Given the description of an element on the screen output the (x, y) to click on. 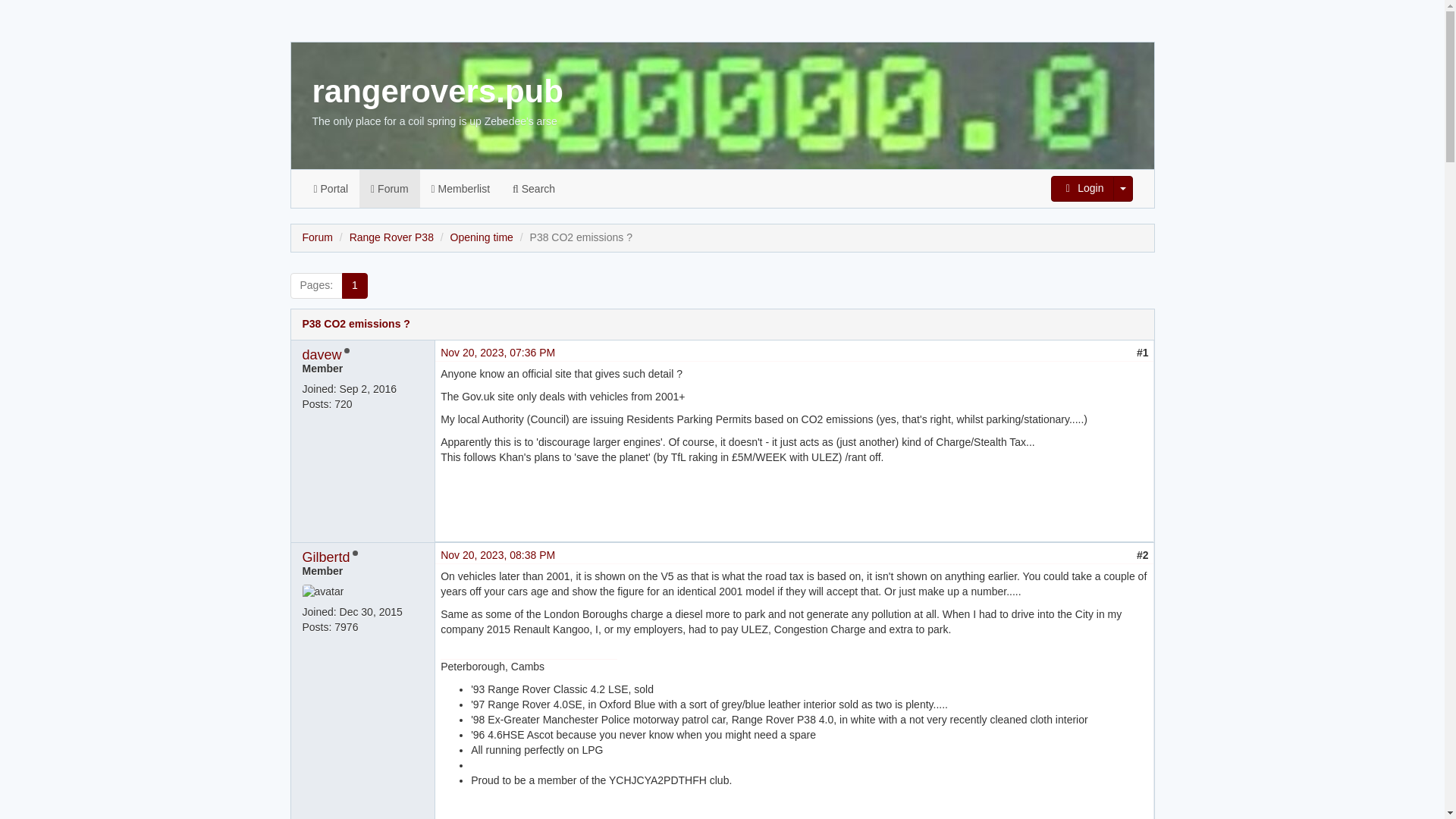
Pages: (315, 285)
Portal (330, 188)
Forum (316, 236)
Nov 20, 2023, 07:36 PM (497, 352)
Gilbertd (325, 557)
Search (533, 188)
P38 CO2 emissions ? (355, 323)
davew (320, 354)
Login (1082, 188)
Opening time (481, 236)
1 (355, 285)
Range Rover P38 (391, 236)
Forum (389, 188)
Memberlist (460, 188)
Nov 20, 2023, 08:38 PM (497, 554)
